Given the description of an element on the screen output the (x, y) to click on. 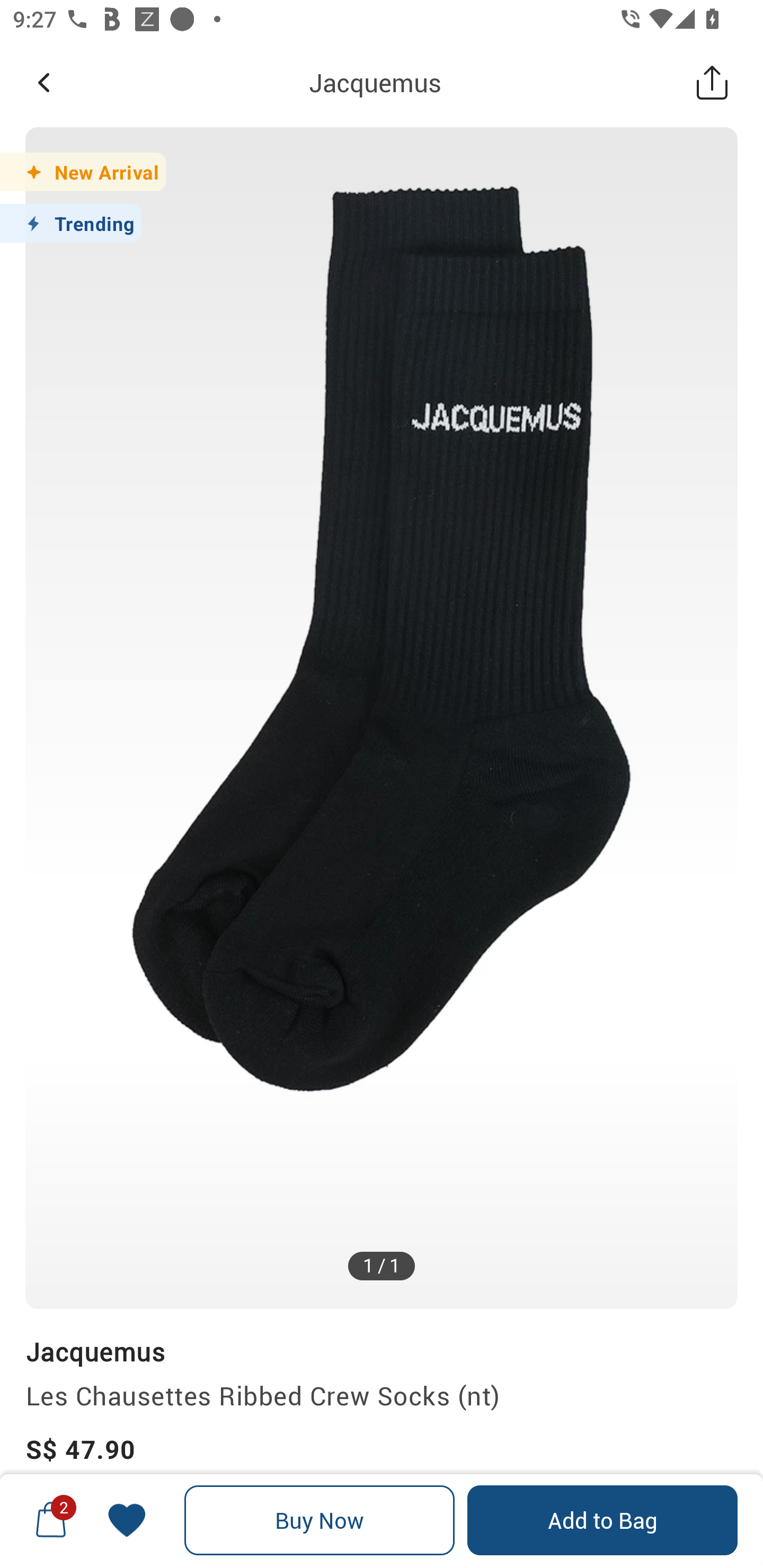
Jacquemus (375, 82)
Share this Product (711, 82)
Jacquemus (95, 1351)
Buy Now (319, 1519)
Add to Bag (601, 1519)
2 (50, 1520)
